Given the description of an element on the screen output the (x, y) to click on. 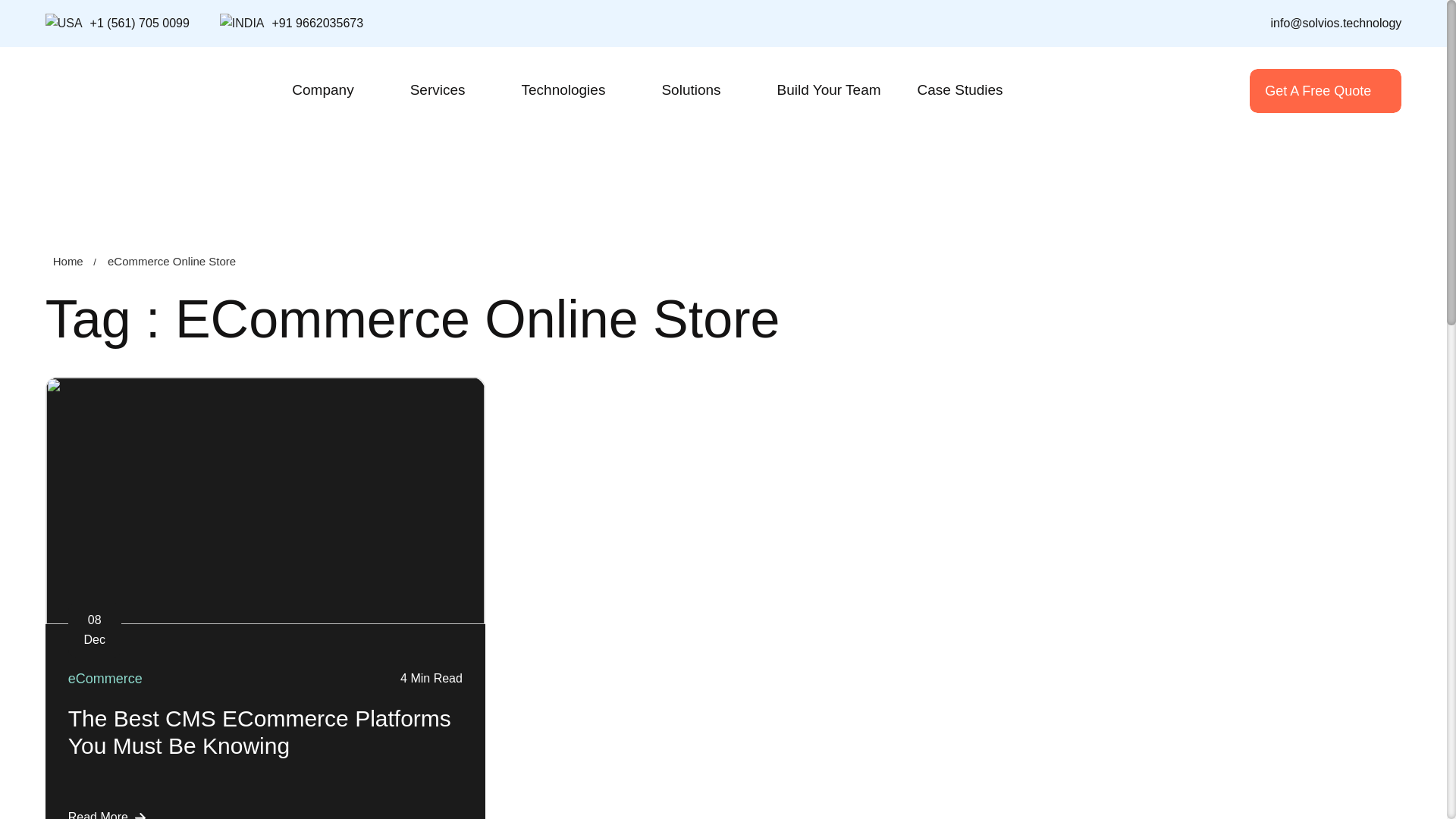
Services (447, 89)
eCommerce Online Store (171, 261)
Company (332, 89)
Home (67, 261)
